Given the description of an element on the screen output the (x, y) to click on. 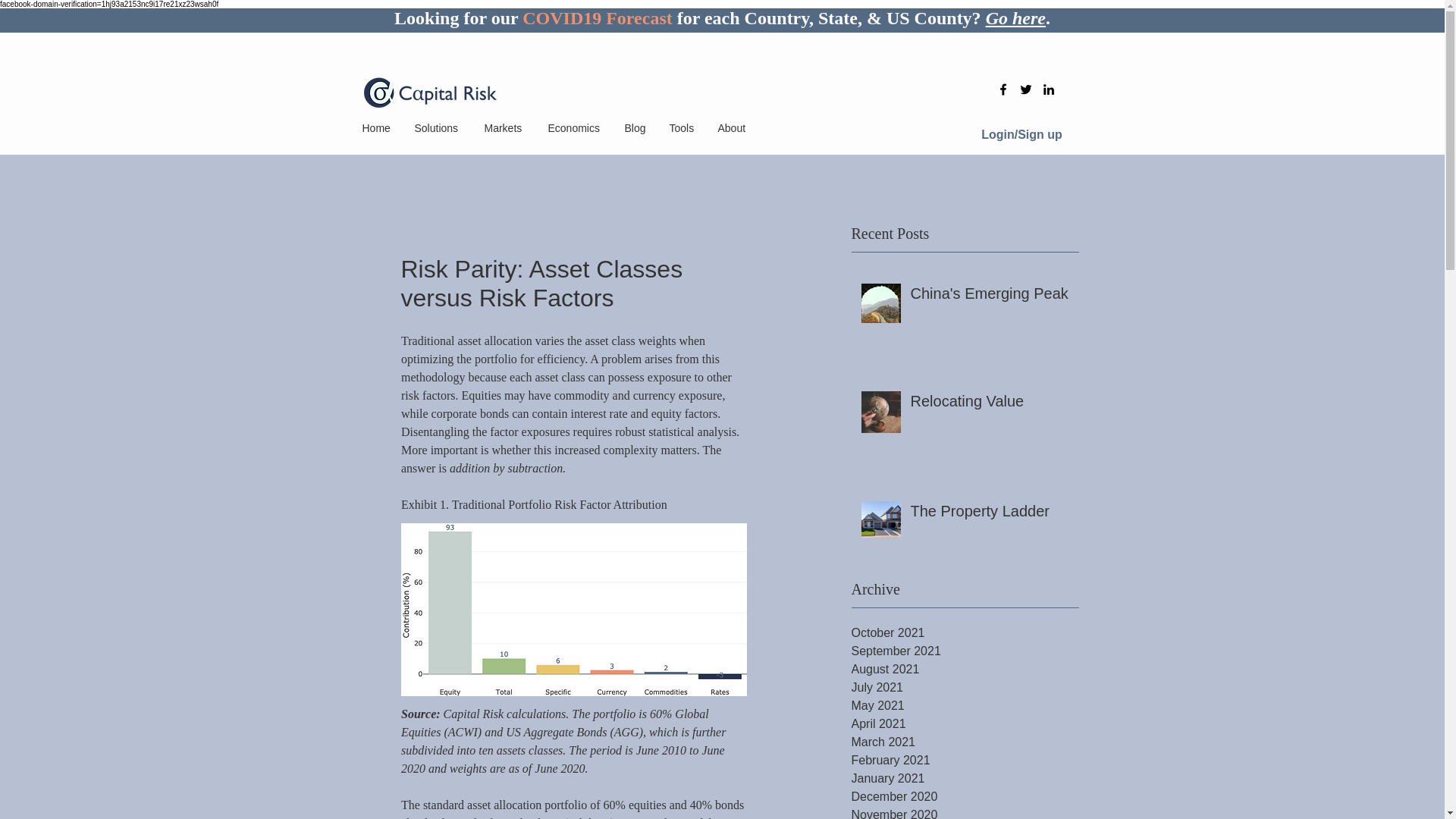
Solutions (438, 128)
March 2021 (964, 742)
July 2021 (964, 687)
Markets (505, 128)
The Property Ladder (989, 513)
Relocating Value (989, 403)
China's Emerging Peak (989, 296)
August 2021 (964, 669)
May 2021 (964, 705)
Blog (635, 128)
